Given the description of an element on the screen output the (x, y) to click on. 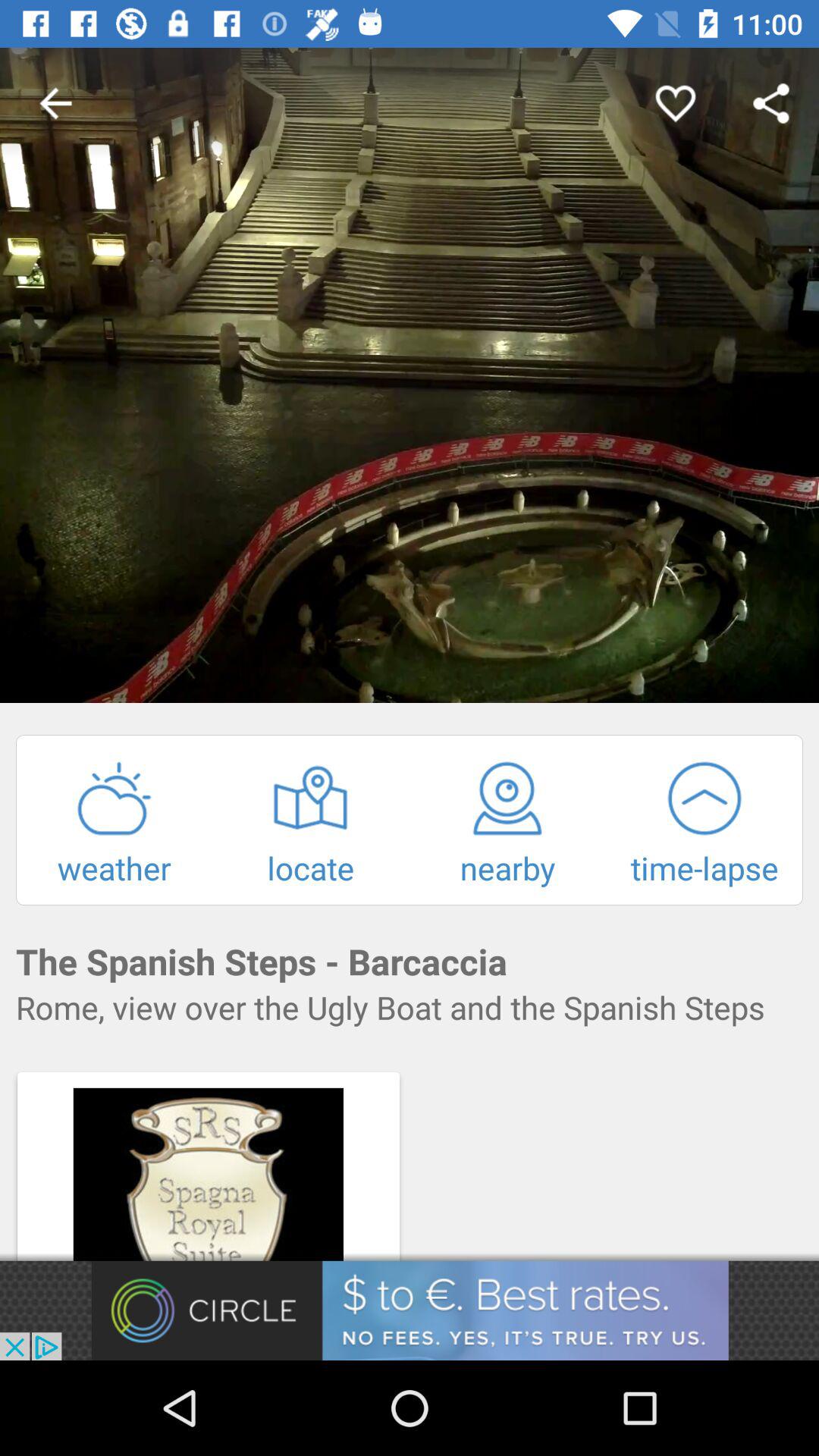
advertisement (409, 1310)
